Given the description of an element on the screen output the (x, y) to click on. 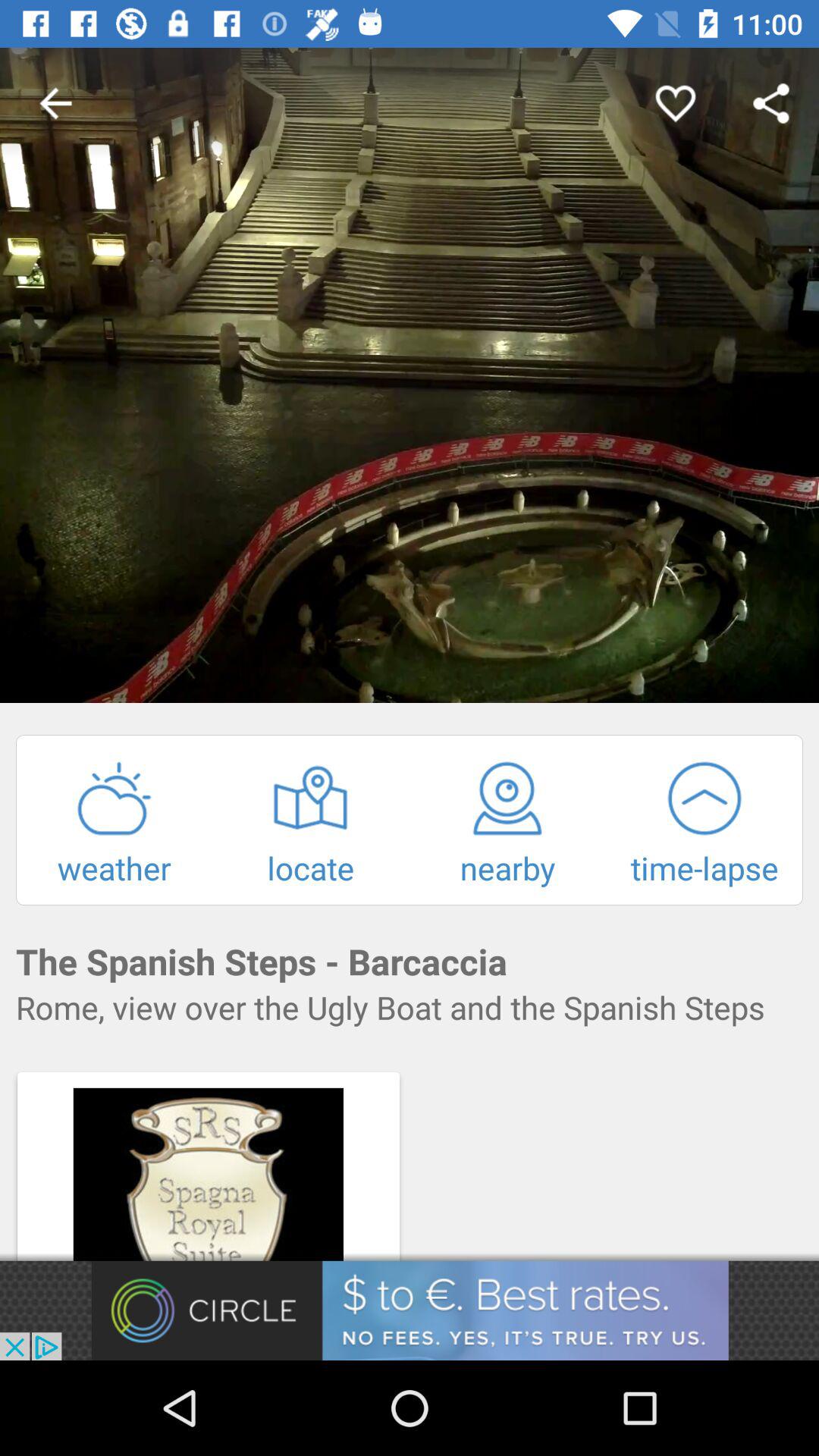
advertisement (409, 1310)
